Given the description of an element on the screen output the (x, y) to click on. 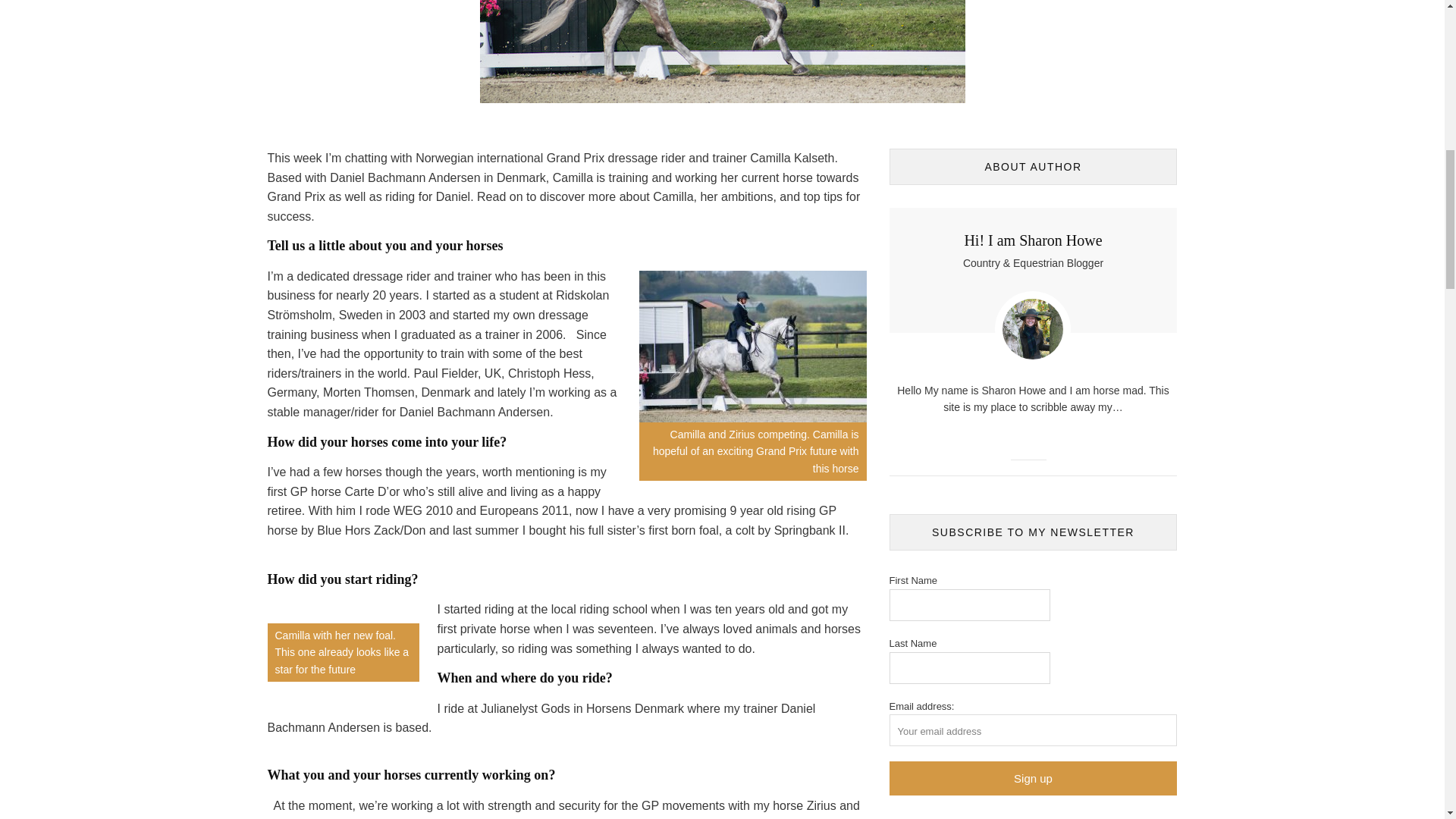
Sign up (1032, 778)
